Given the description of an element on the screen output the (x, y) to click on. 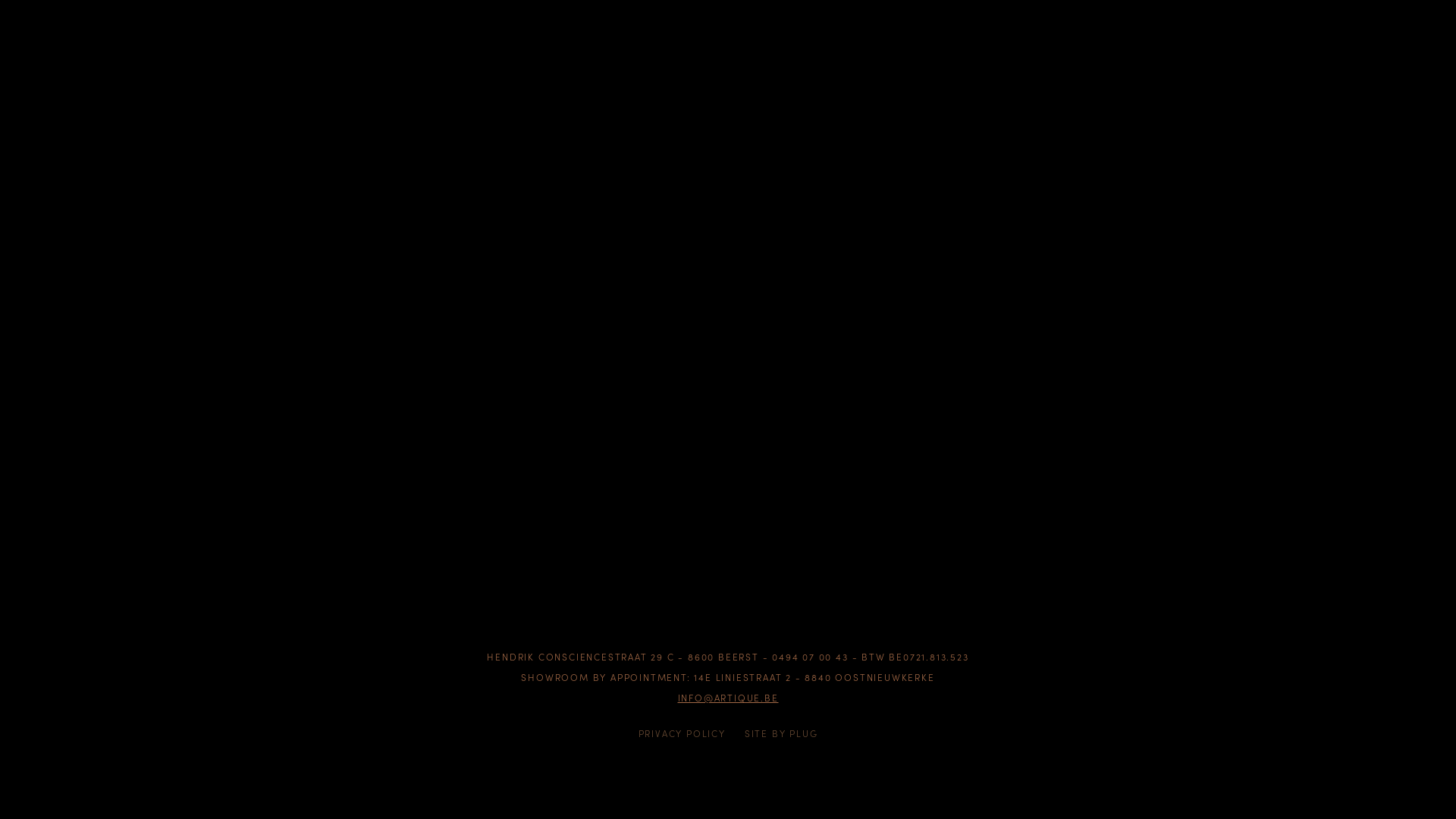
SITE BY PLUG Element type: text (781, 732)
INFO@ARTIQUE.BE Element type: text (727, 696)
0494 07 00 43 Element type: text (809, 655)
PRIVACY POLICY Element type: text (681, 732)
